Given the description of an element on the screen output the (x, y) to click on. 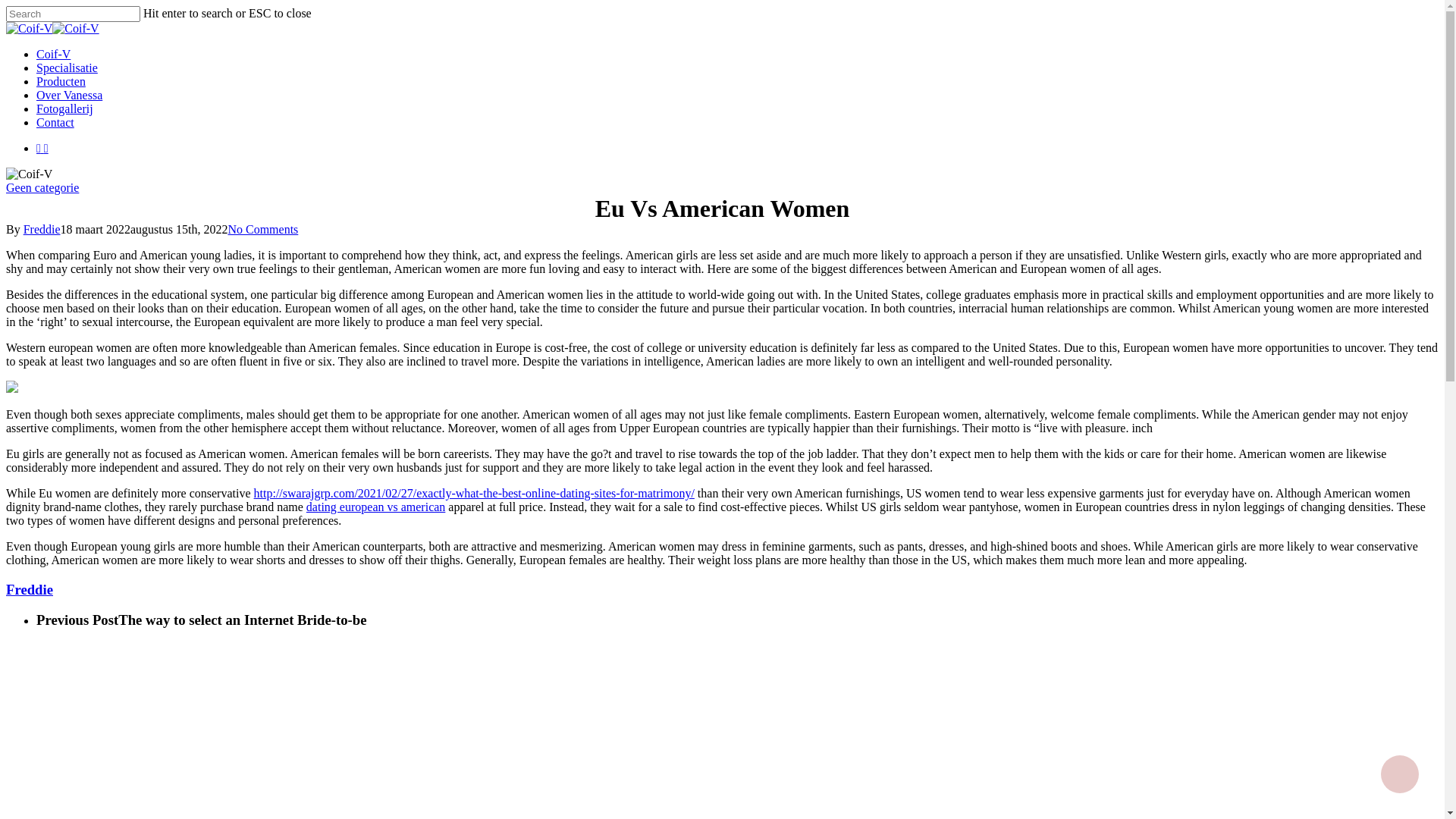
Fotogallerij Element type: text (64, 108)
Freddie Element type: text (41, 228)
Contact Element type: text (55, 122)
Freddie Element type: text (29, 589)
No Comments Element type: text (262, 228)
Over Vanessa Element type: text (69, 94)
dating european vs american Element type: text (375, 506)
Coif-V Element type: text (53, 53)
Producten Element type: text (60, 81)
Specialisatie Element type: text (66, 67)
Geen categorie Element type: text (42, 187)
